Given the description of an element on the screen output the (x, y) to click on. 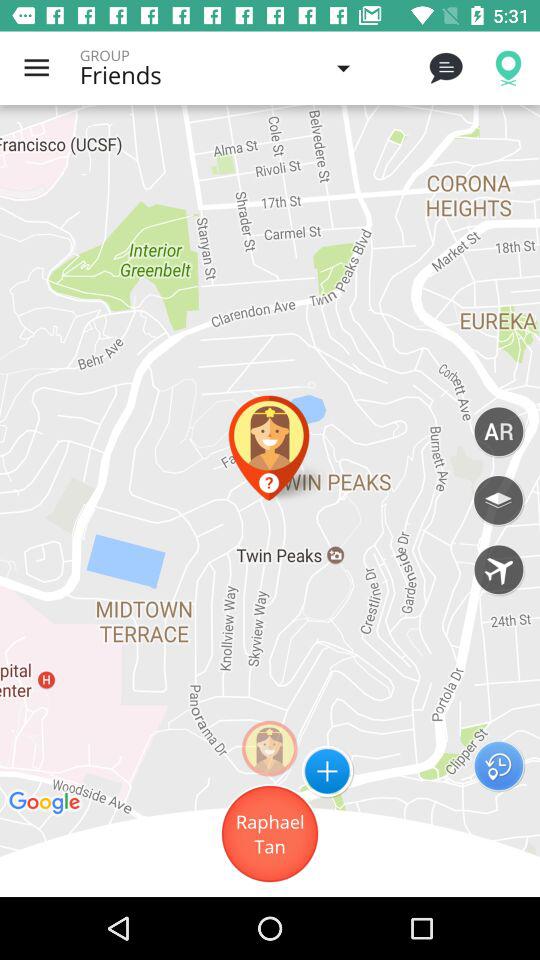
ar (498, 431)
